Given the description of an element on the screen output the (x, y) to click on. 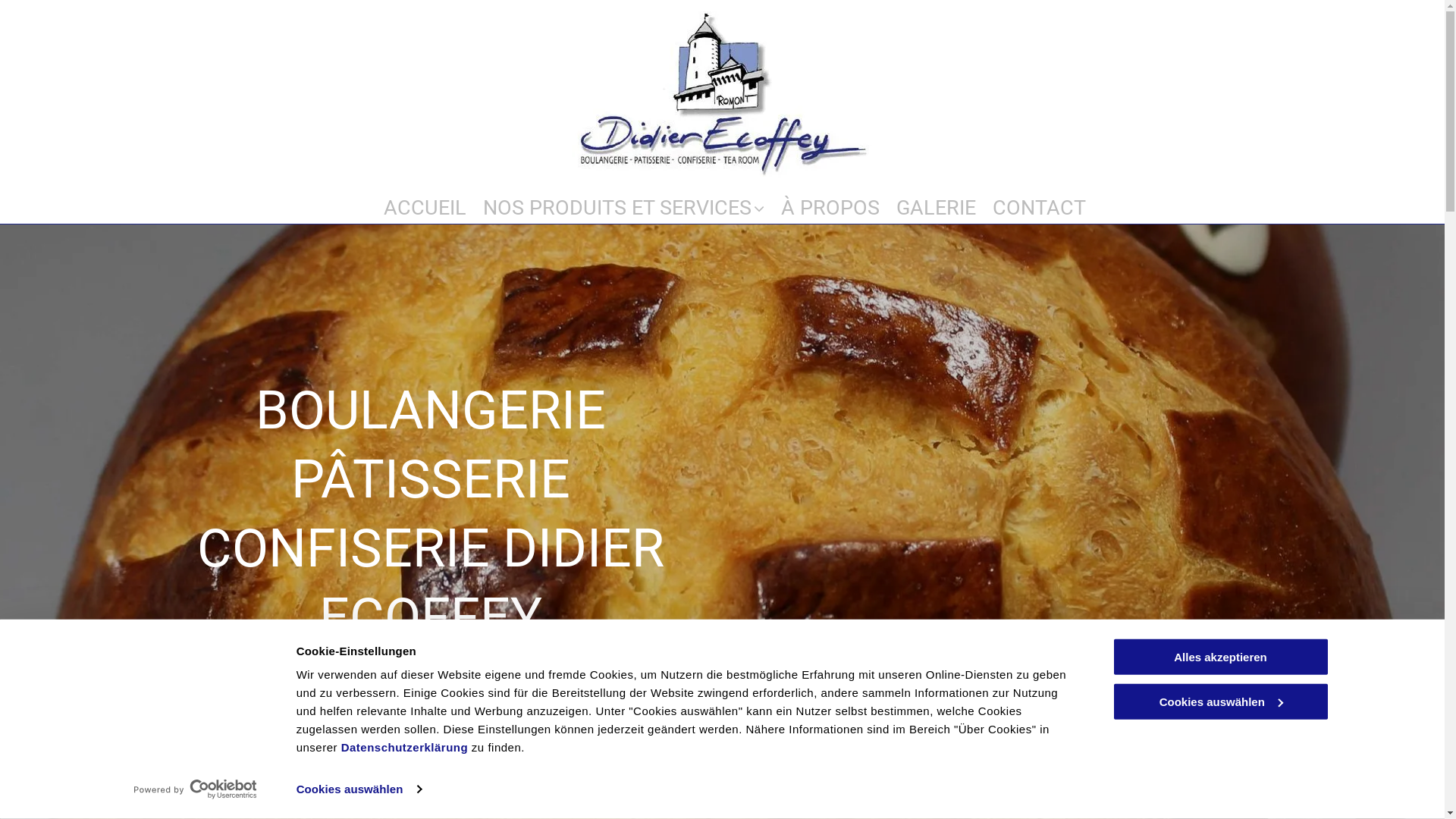
NOS PRODUITS ET SERVICES Element type: text (622, 199)
ACCUEIL Element type: text (424, 199)
GALERIE Element type: text (935, 199)
CONTACT Element type: text (1038, 199)
Alles akzeptieren Element type: text (1219, 656)
